Given the description of an element on the screen output the (x, y) to click on. 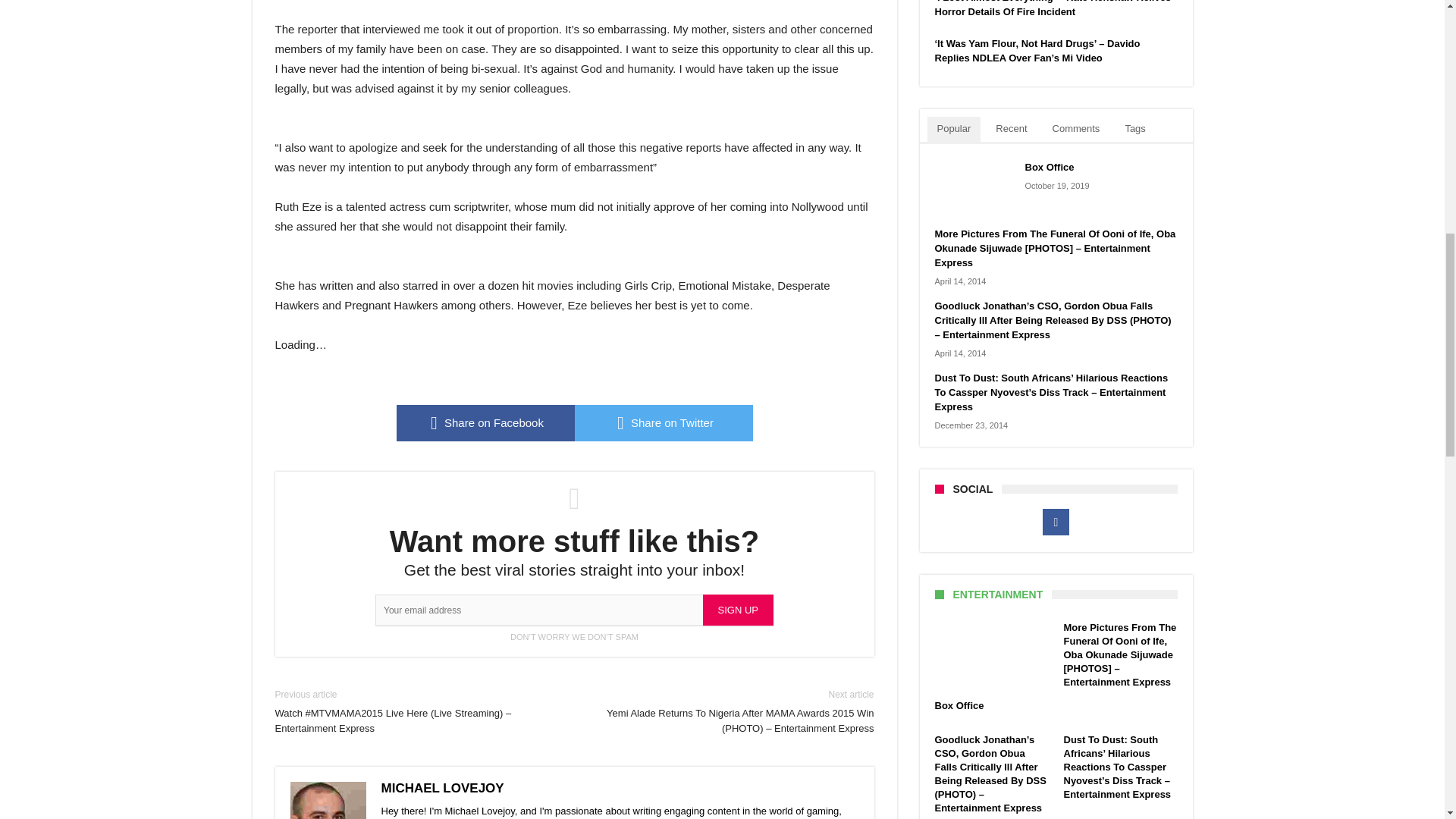
twitter (663, 422)
Go Top (1417, 60)
Share on Facebook (484, 422)
Share on Twitter (663, 422)
MICHAEL LOVEJOY (441, 788)
Facebook (1055, 522)
Sign up (738, 609)
Sign up (738, 609)
facebook (484, 422)
